Given the description of an element on the screen output the (x, y) to click on. 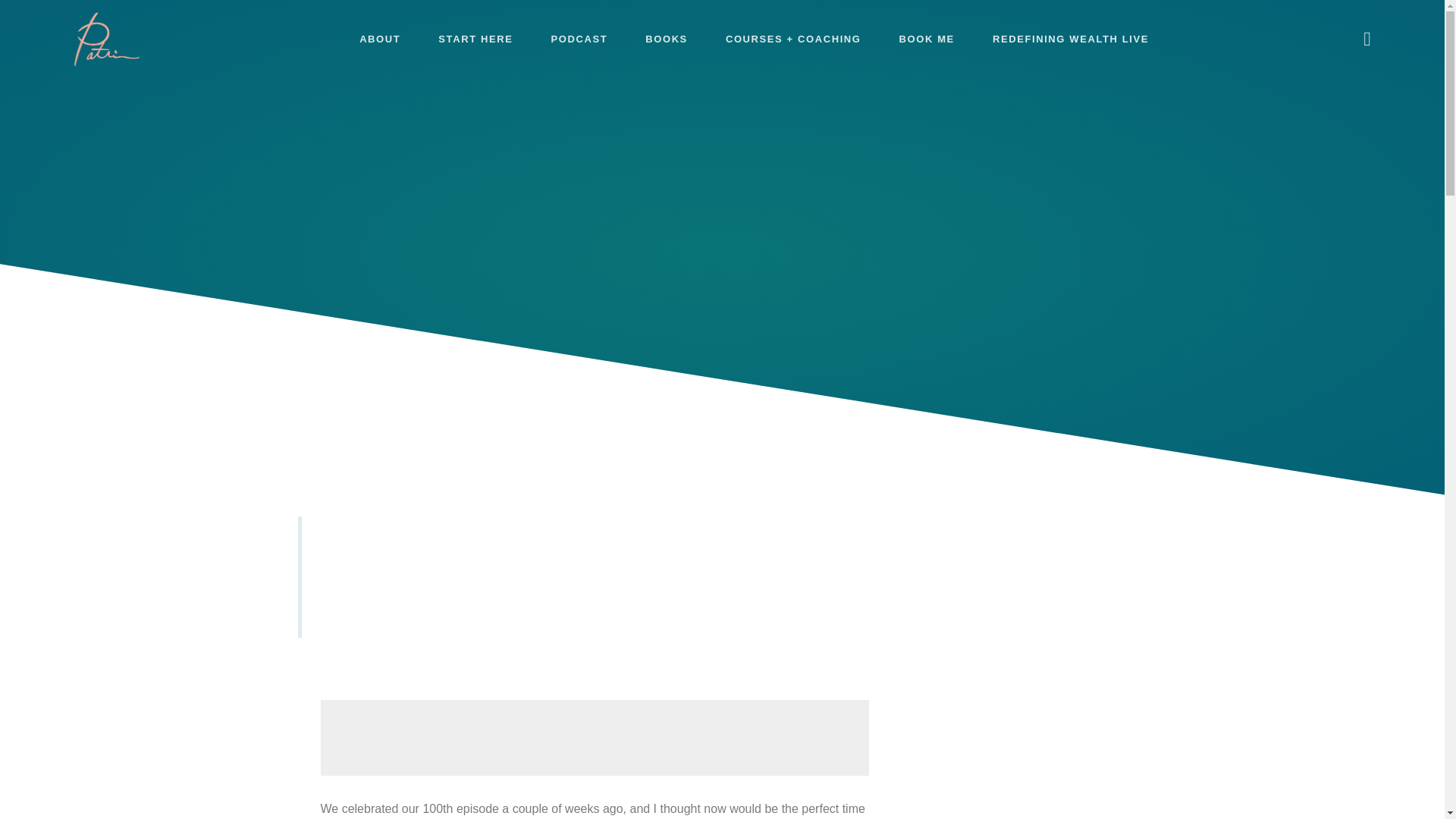
BOOK ME (927, 39)
BOOKS (666, 39)
REDEFINING WEALTH LIVE (1070, 39)
PODCAST (578, 39)
ABOUT (379, 39)
START HERE (475, 39)
